Given the description of an element on the screen output the (x, y) to click on. 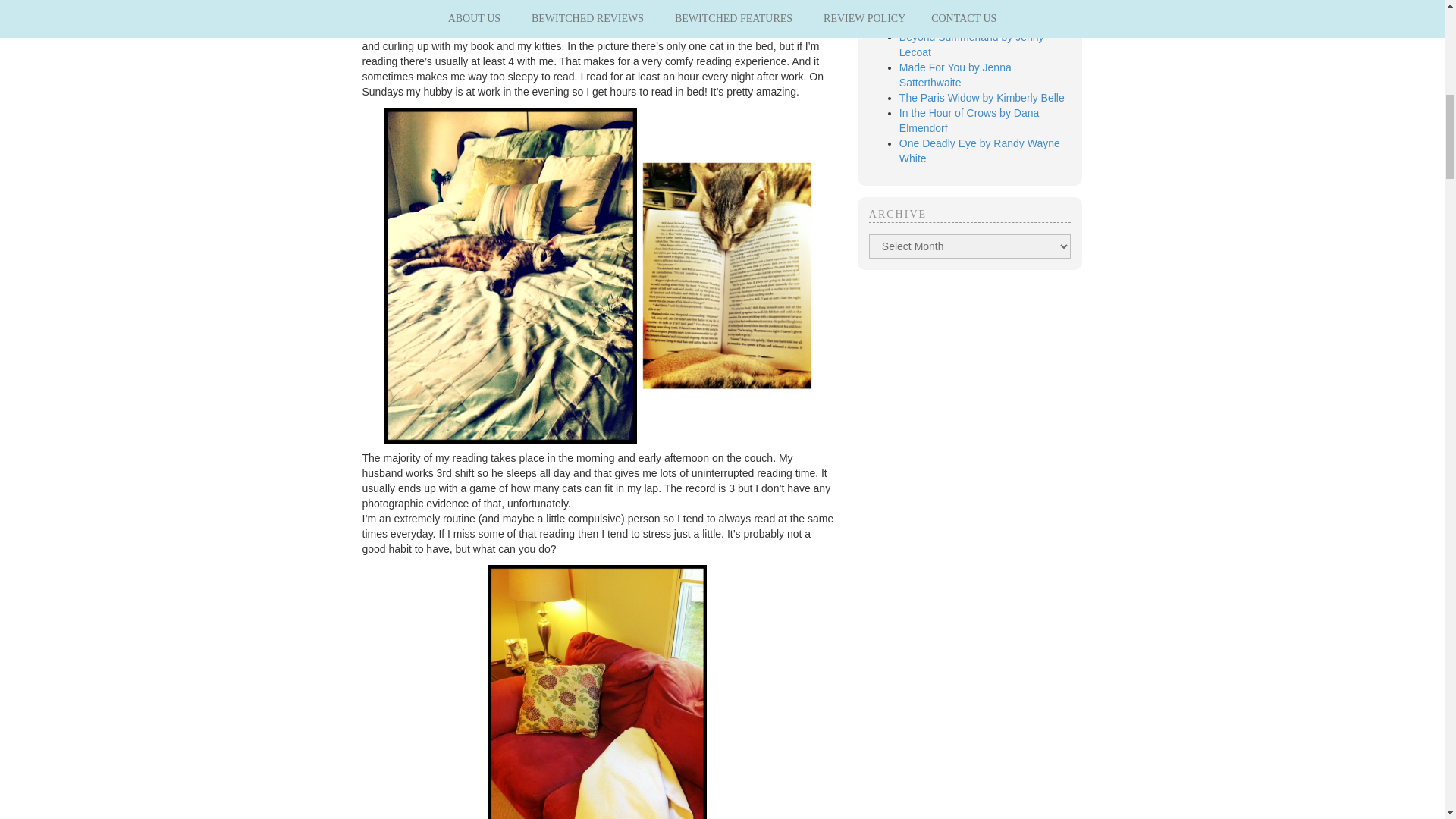
harleybookmark (726, 274)
couch (596, 692)
bed (510, 275)
